Given the description of an element on the screen output the (x, y) to click on. 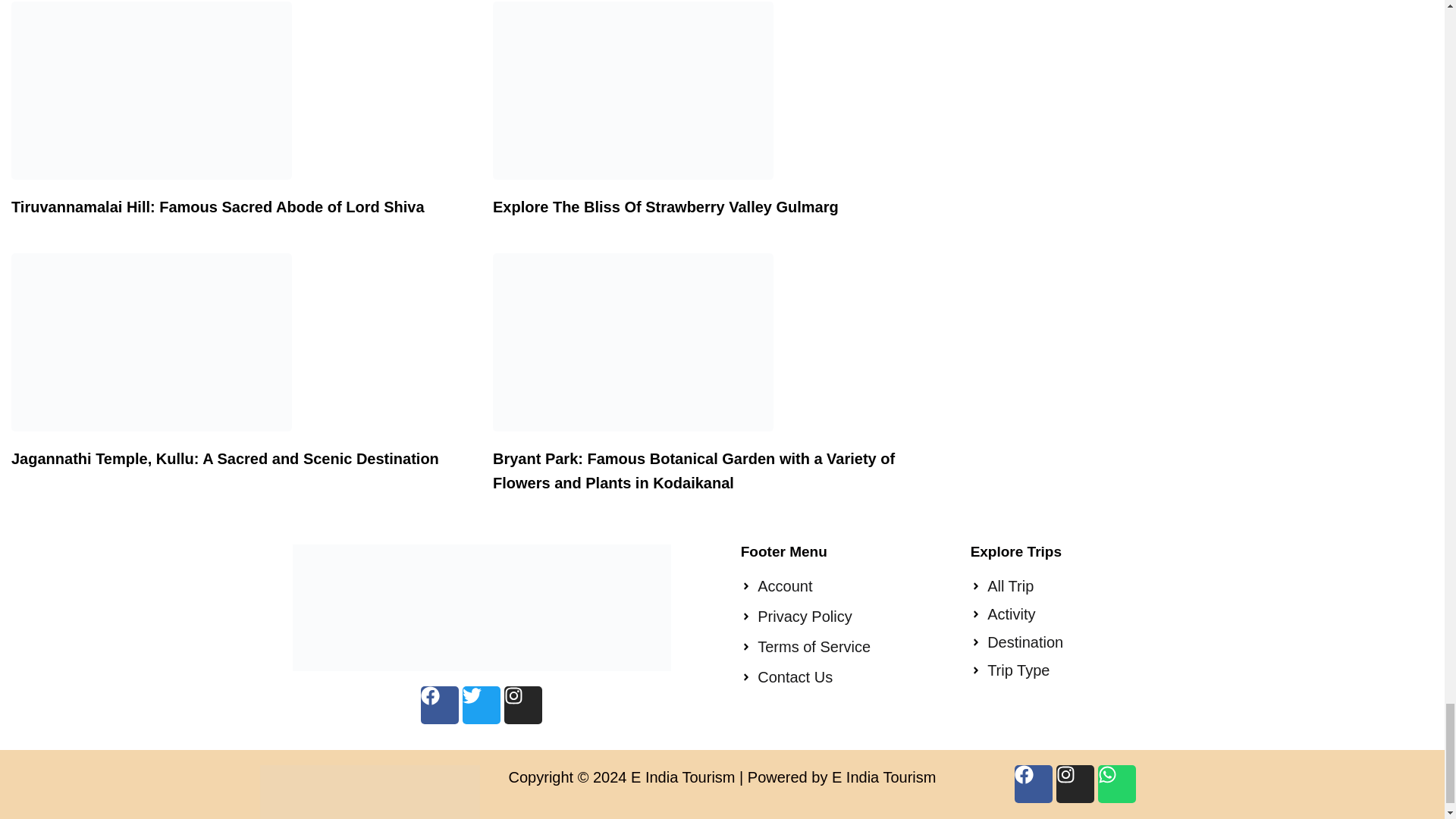
Explore The Bliss Of Strawberry Valley Gulmarg 12 (633, 90)
Jagannathi Temple, Kullu: A Sacred and Scenic Destination 13 (151, 342)
Tiruvannamalai Hill: Famous Sacred Abode of Lord Shiva 11 (151, 90)
